Given the description of an element on the screen output the (x, y) to click on. 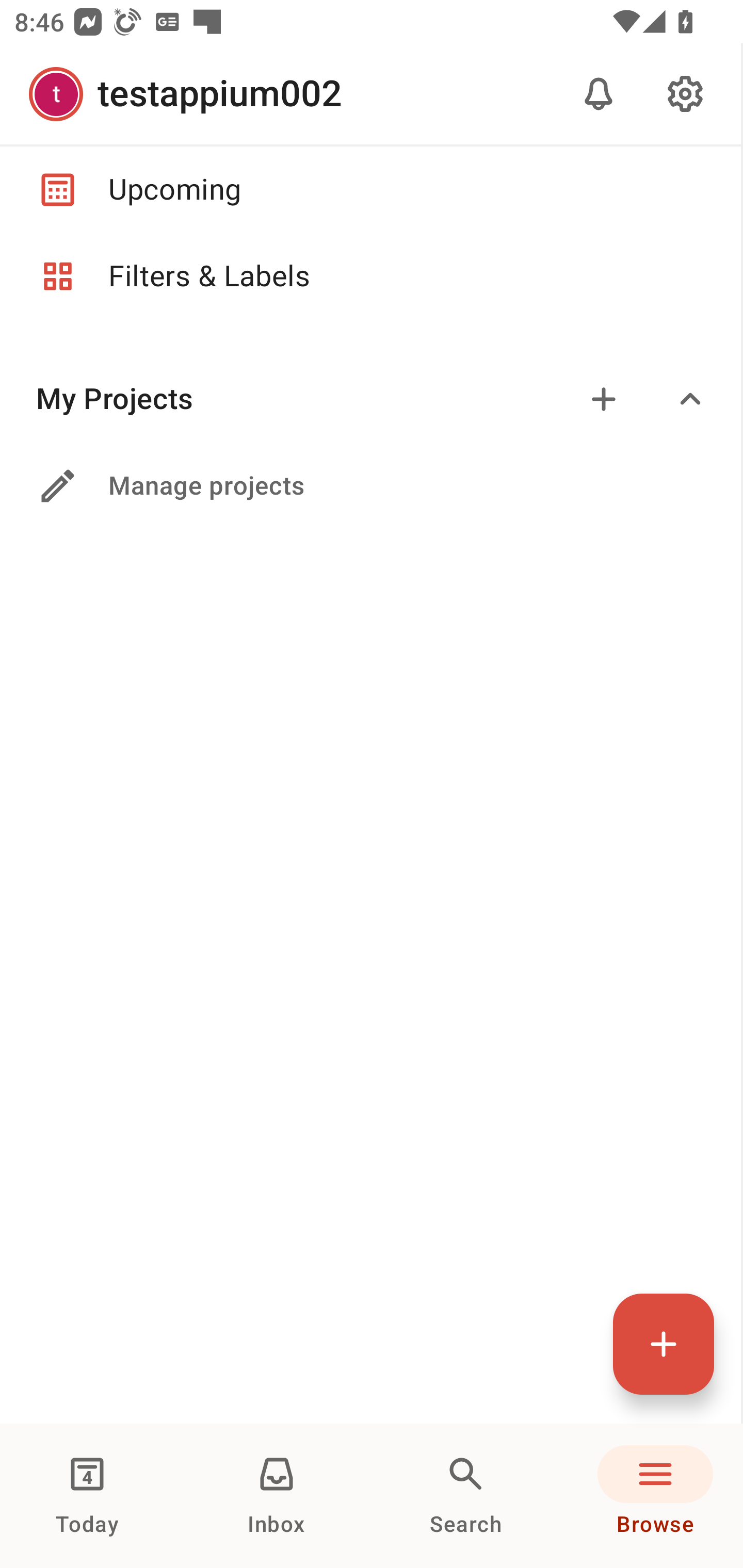
Notifications (598, 93)
Settings (684, 93)
Upcoming (370, 189)
Filters & Labels (370, 276)
My Projects Add Expand/collapse (370, 398)
Add (603, 398)
Expand/collapse (690, 398)
Manage projects (370, 485)
Quick add (663, 1343)
Today (87, 1495)
Inbox (276, 1495)
Search (465, 1495)
